Given the description of an element on the screen output the (x, y) to click on. 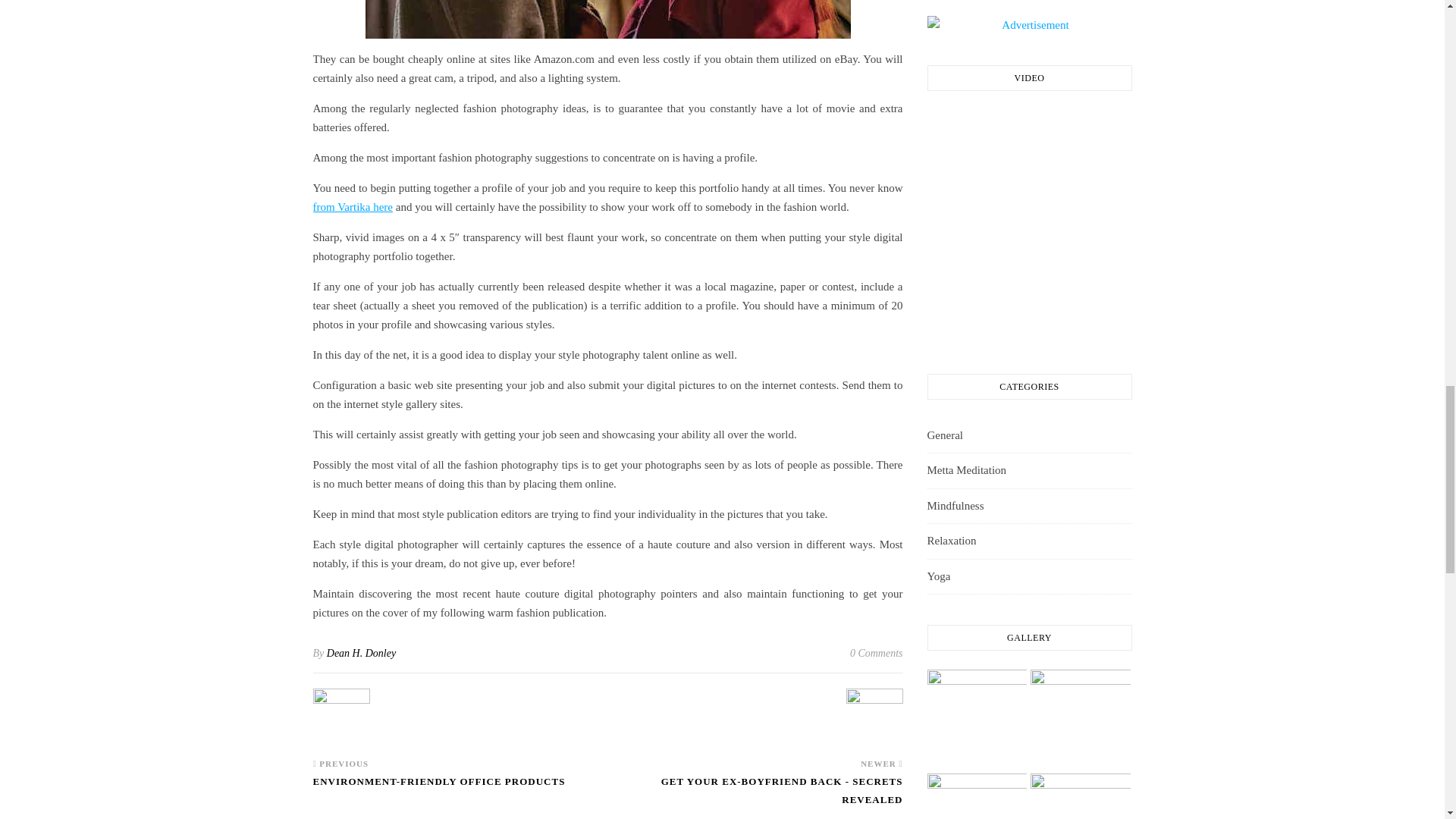
Posts by Dean H. Donley (361, 653)
Get Your Ex-Boyfriend Back - Secrets Revealed (755, 796)
0 Comments (876, 653)
GET YOUR EX-BOYFRIEND BACK - SECRETS REVEALED (755, 796)
from Vartika here (353, 206)
ENVIRONMENT-FRIENDLY OFFICE PRODUCTS (438, 788)
Environment-Friendly Office Products (341, 716)
Dean H. Donley (361, 653)
Get Your Ex-Boyfriend Back - Secrets Revealed (873, 716)
Environment-Friendly Office Products (438, 788)
